Given the description of an element on the screen output the (x, y) to click on. 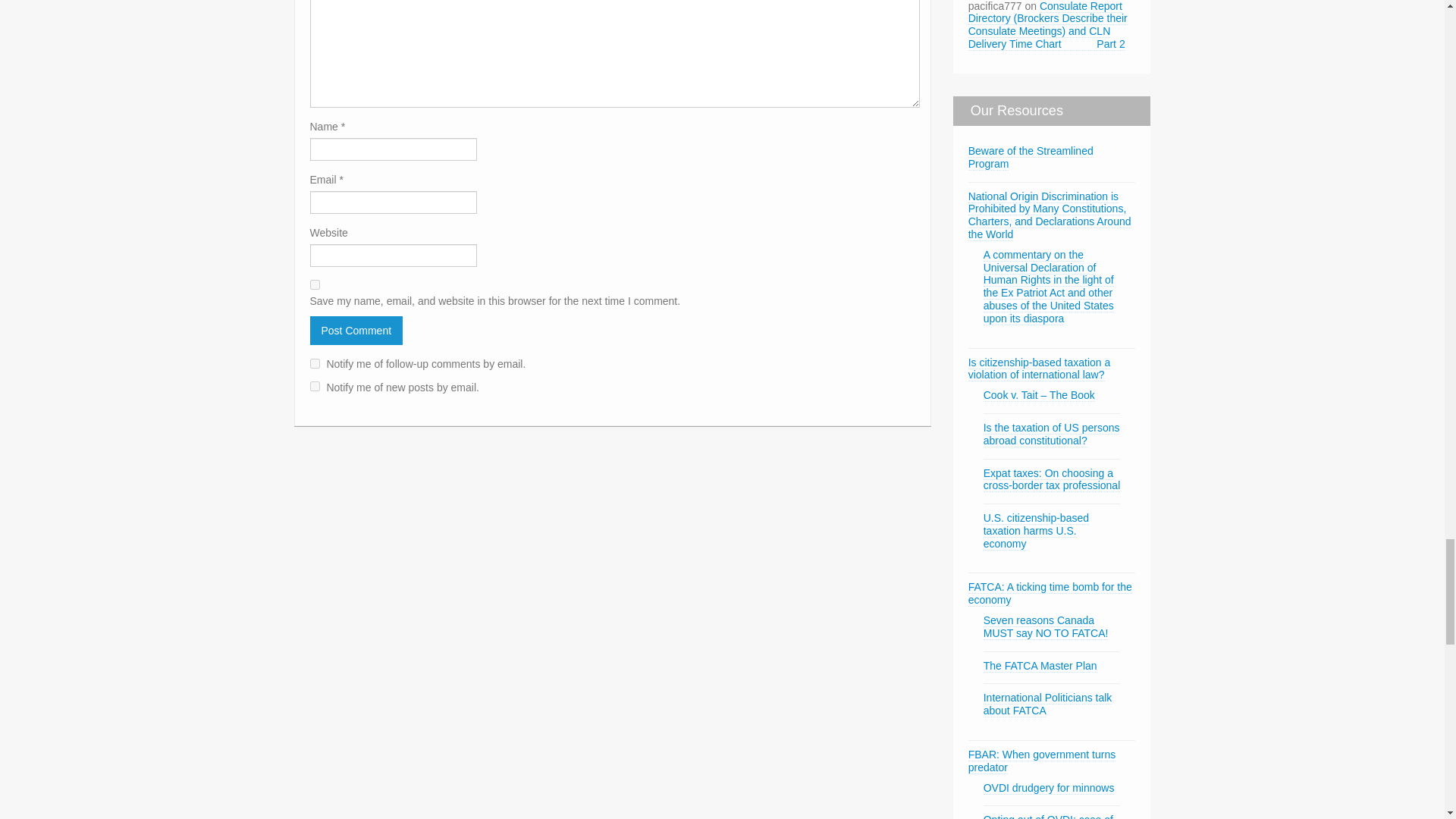
yes (313, 284)
Post Comment (355, 330)
subscribe (313, 363)
subscribe (313, 386)
